Given the description of an element on the screen output the (x, y) to click on. 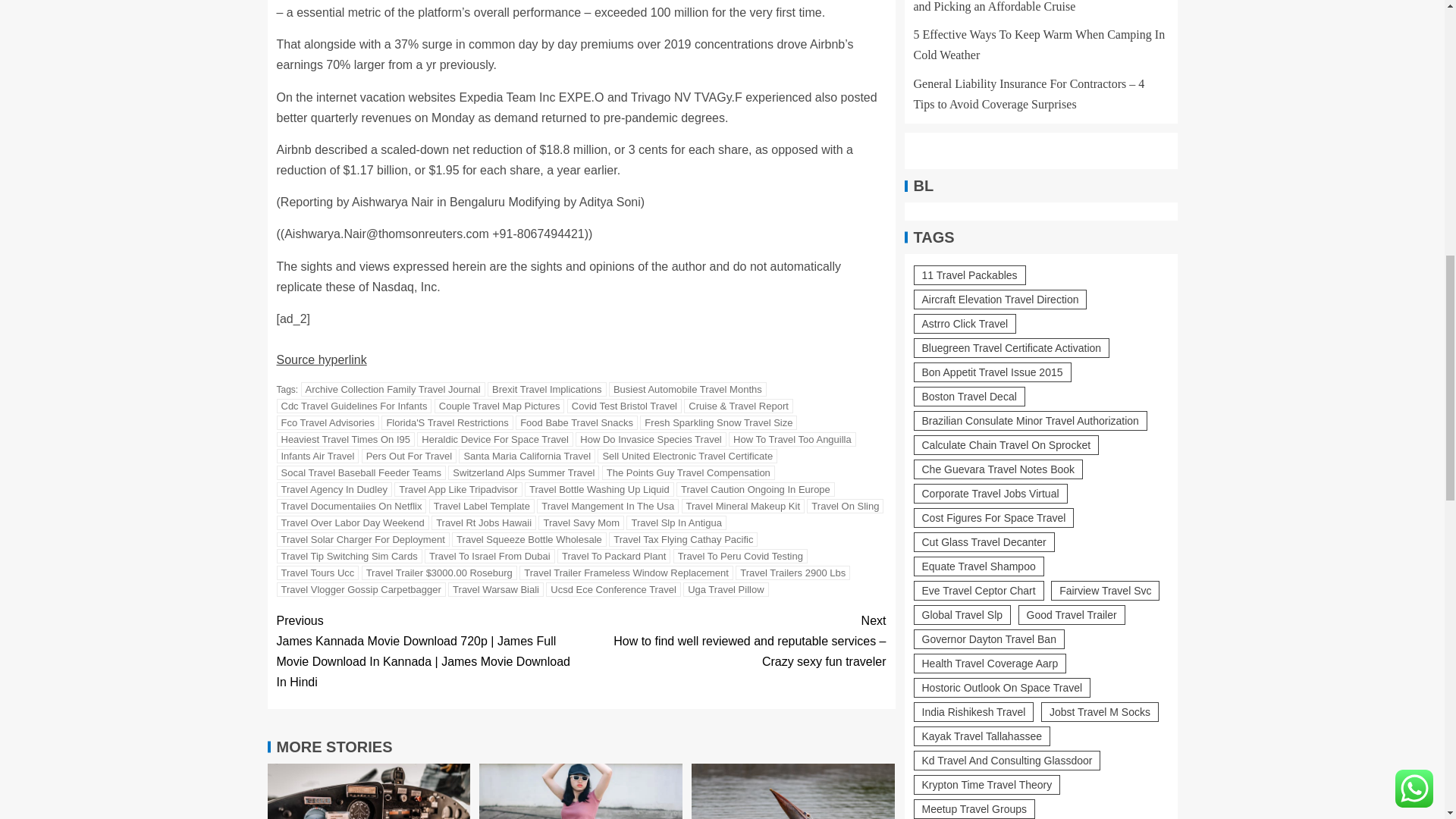
Brexit Travel Implications (547, 389)
Private Plane Rental is More Efficient Than Jet Ownership (368, 791)
How Do Invasice Species Travel (650, 439)
Some of the Best Travel Accessories for Men and Women (580, 791)
Busiest Automobile Travel Months (687, 389)
Couple Travel Map Pictures (498, 405)
Heaviest Travel Times On I95 (345, 439)
Heraldic Device For Space Travel (494, 439)
Fresh Sparkling Snow Travel Size (718, 422)
The History of American Trans Air (793, 791)
